Given the description of an element on the screen output the (x, y) to click on. 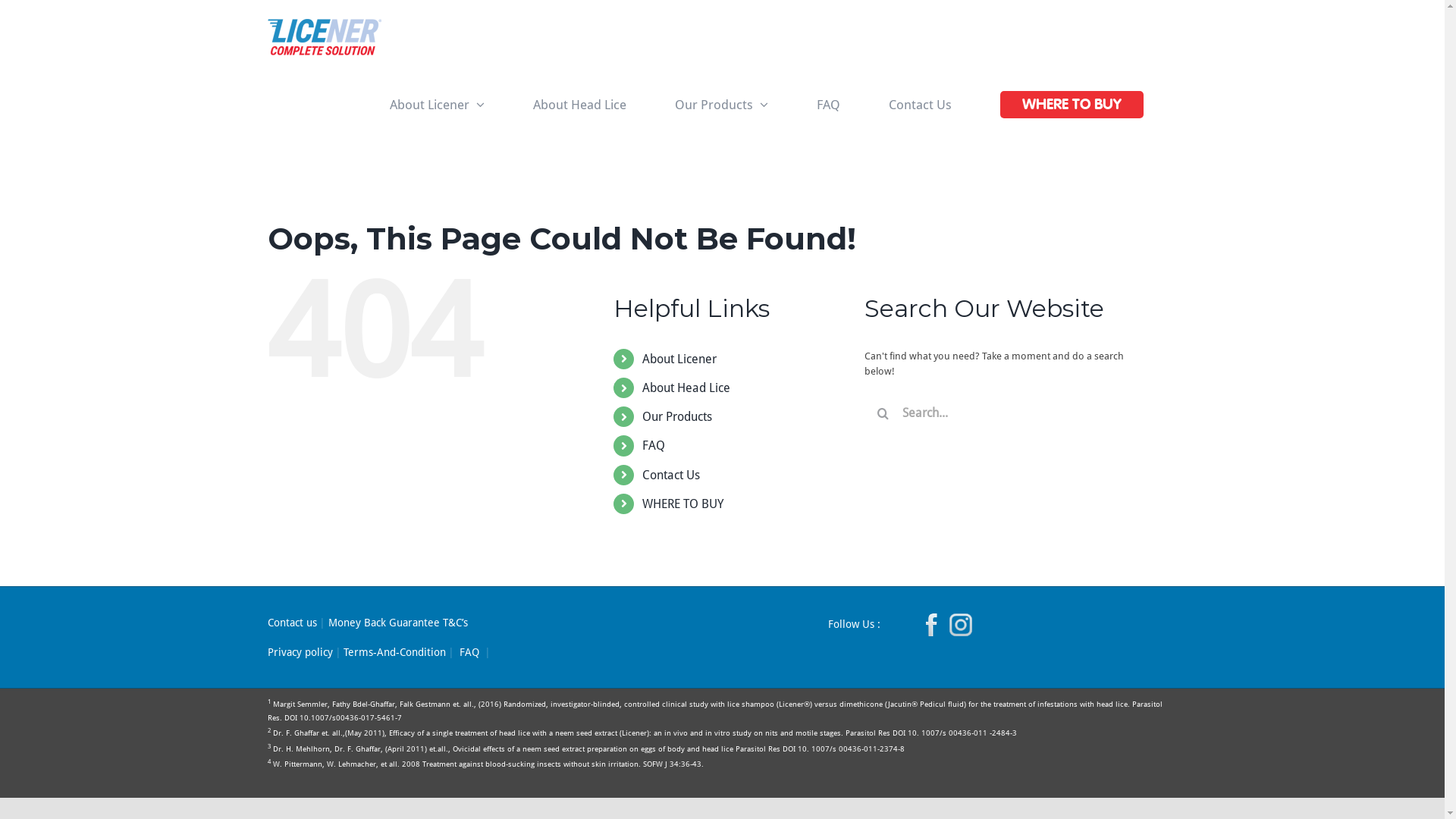
Contact Us Element type: text (670, 474)
FAQ Element type: text (469, 652)
WHERE TO BUY Element type: text (682, 503)
Our Products Element type: text (720, 104)
Contact Us Element type: text (919, 104)
About Head Lice Element type: text (579, 104)
Terms-And-Condition Element type: text (393, 652)
FAQ Element type: text (653, 445)
Contact us Element type: text (291, 622)
About Licener Element type: text (436, 104)
Privacy policy Element type: text (299, 652)
WHERE TO BUY Element type: text (1071, 104)
Our Products Element type: text (677, 416)
FAQ Element type: text (828, 104)
About Licener Element type: text (679, 358)
About Head Lice Element type: text (686, 387)
